Given the description of an element on the screen output the (x, y) to click on. 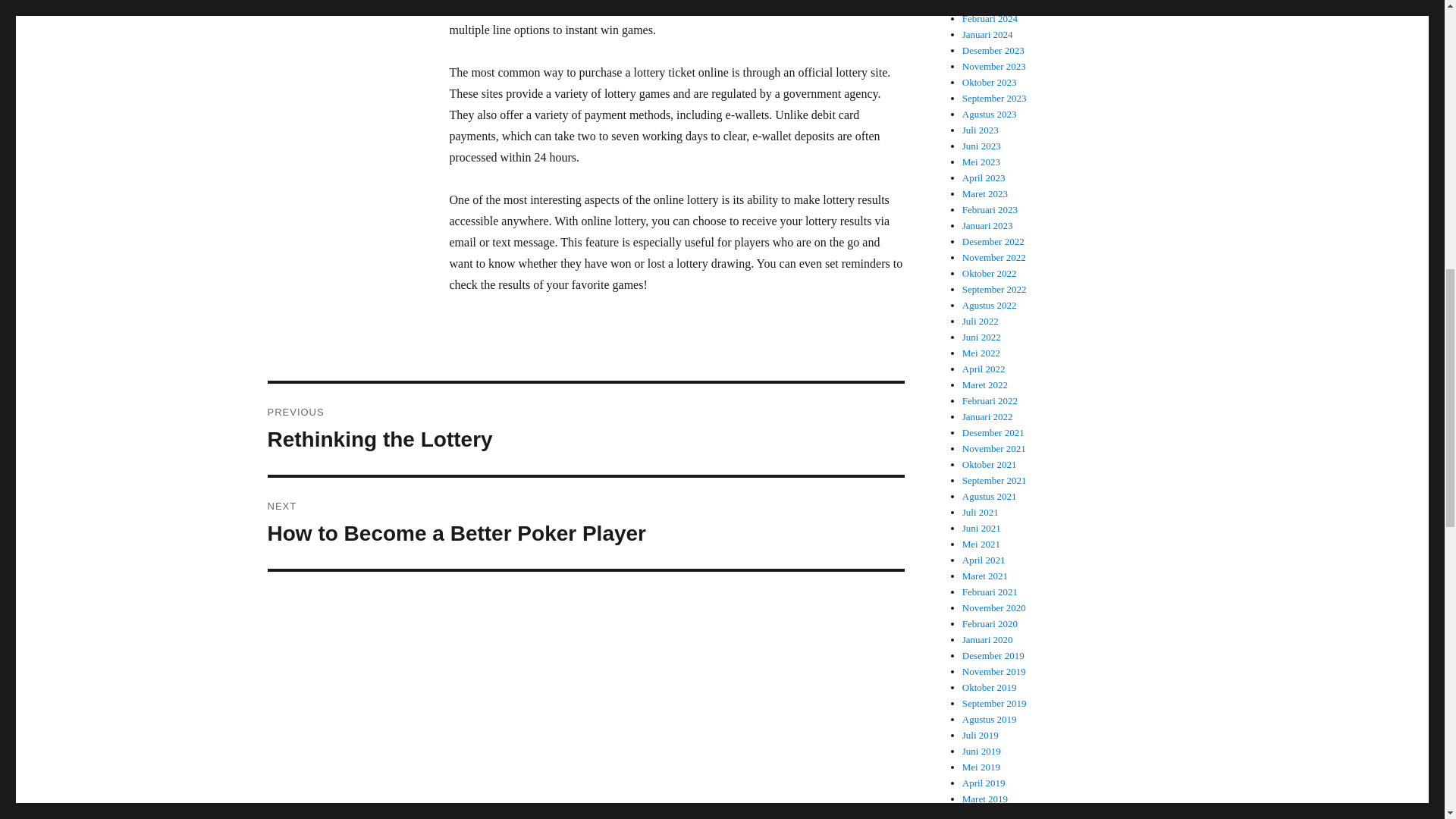
Desember 2023 (993, 50)
Juni 2023 (981, 145)
April 2023 (984, 177)
Juli 2023 (980, 129)
Januari 2023 (987, 225)
Februari 2023 (989, 209)
Agustus 2023 (989, 113)
November 2022 (585, 429)
Desember 2022 (994, 256)
Oktober 2023 (993, 241)
September 2022 (989, 81)
November 2023 (994, 288)
Oktober 2022 (994, 66)
Februari 2024 (989, 273)
